Given the description of an element on the screen output the (x, y) to click on. 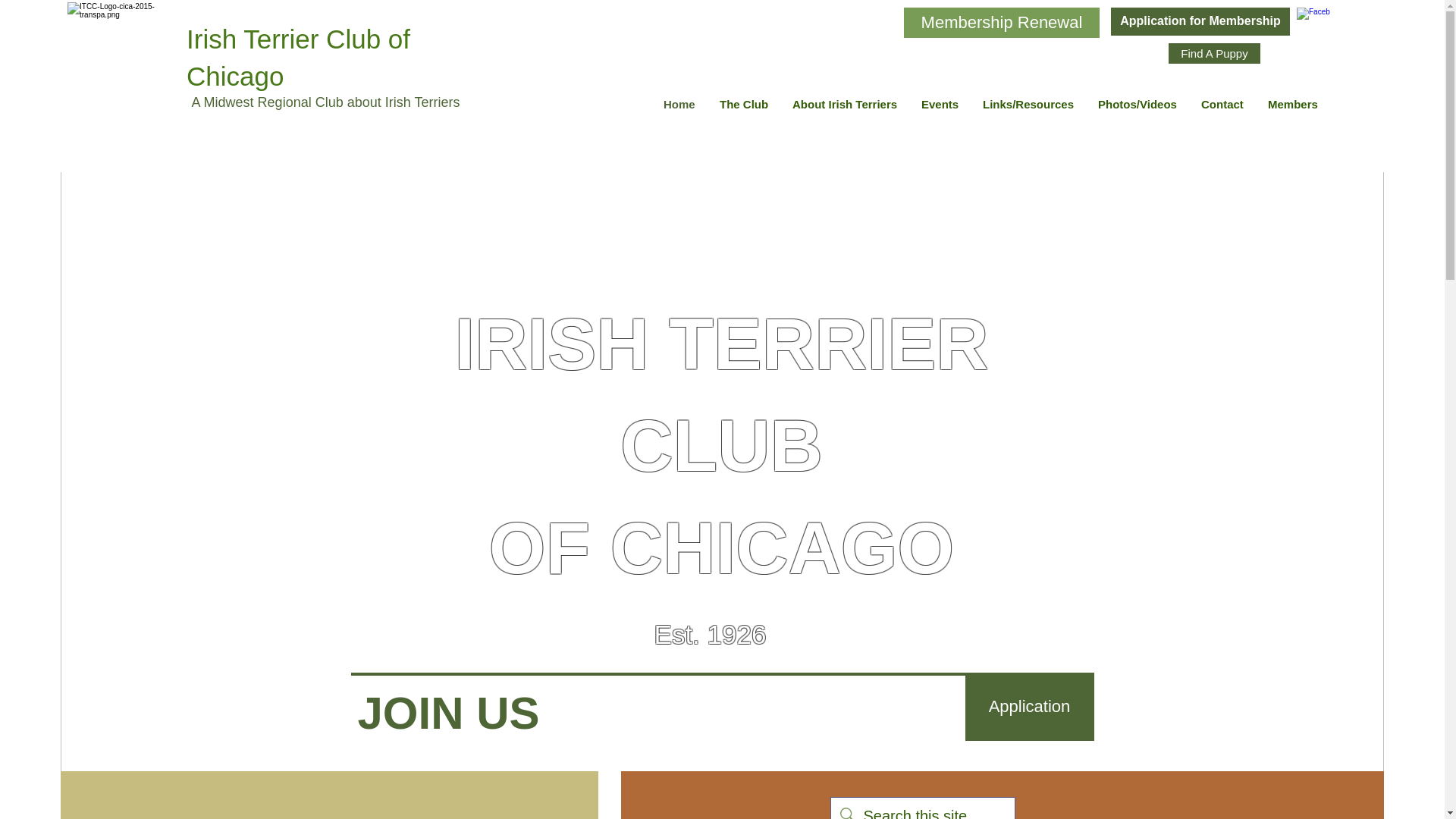
Home (679, 104)
Find A Puppy (1214, 53)
A Midwest Regional Club about Irish Terriers (326, 102)
Members (1293, 104)
Contact (1222, 104)
Application (1028, 706)
Membership Renewal (1001, 22)
Irish Terrier Club of Chicago (298, 57)
Application for Membership (1200, 20)
